Given the description of an element on the screen output the (x, y) to click on. 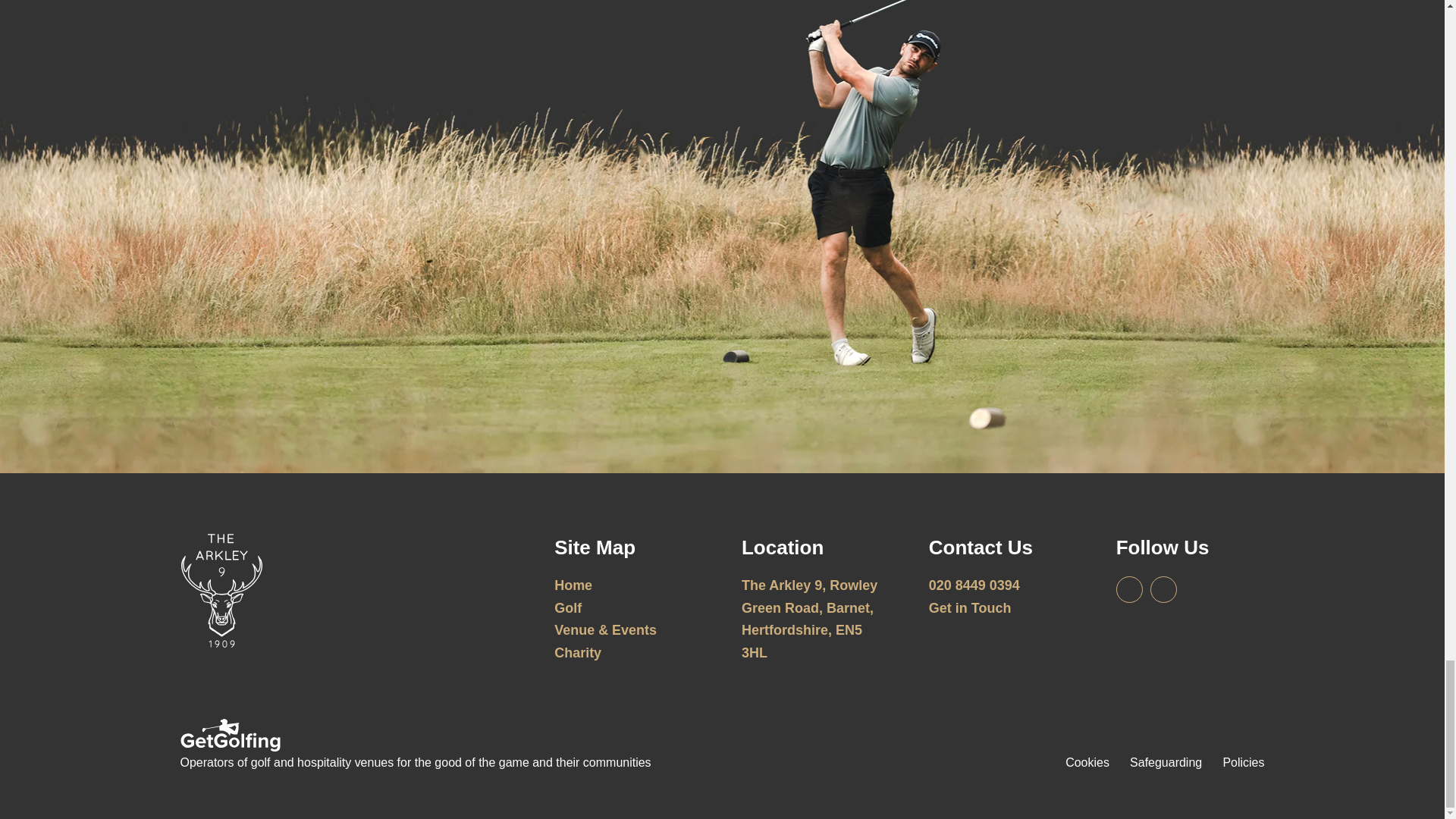
Home (573, 585)
Golf (567, 607)
Charity (577, 652)
